Given the description of an element on the screen output the (x, y) to click on. 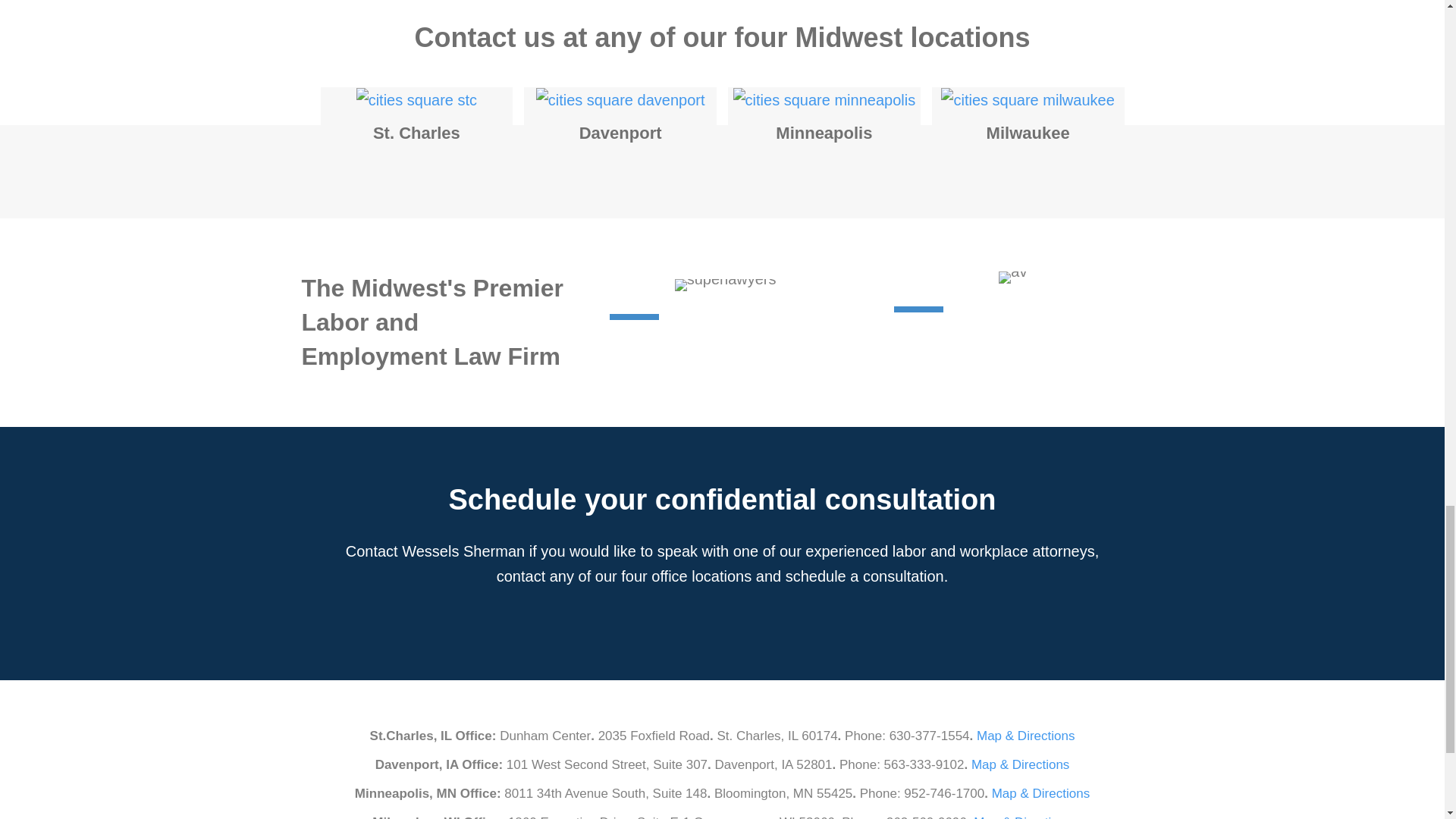
Minneapolis 3 (824, 100)
Davenport (619, 98)
St. Charles 1 (416, 100)
Davenport 2 (619, 100)
Minneapolis (824, 132)
Minneapolis (824, 98)
Milwaukee (1028, 132)
Davenport (620, 132)
Milwaukee 4 (1026, 100)
St. Charles (416, 98)
